Given the description of an element on the screen output the (x, y) to click on. 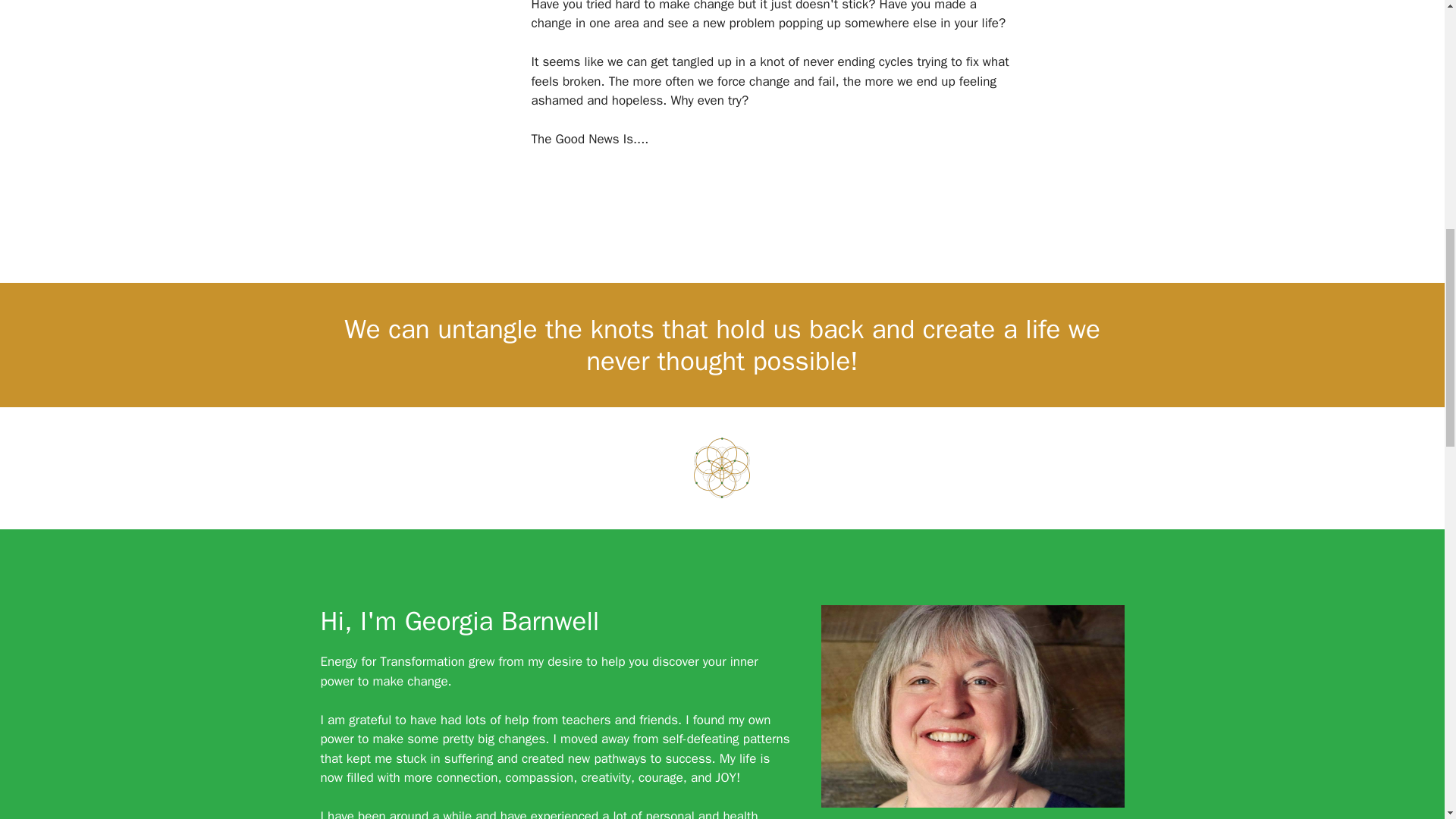
Georgia good one Nov 2020 (972, 706)
Scroll back to top (1406, 720)
avatar75 (722, 467)
